Given the description of an element on the screen output the (x, y) to click on. 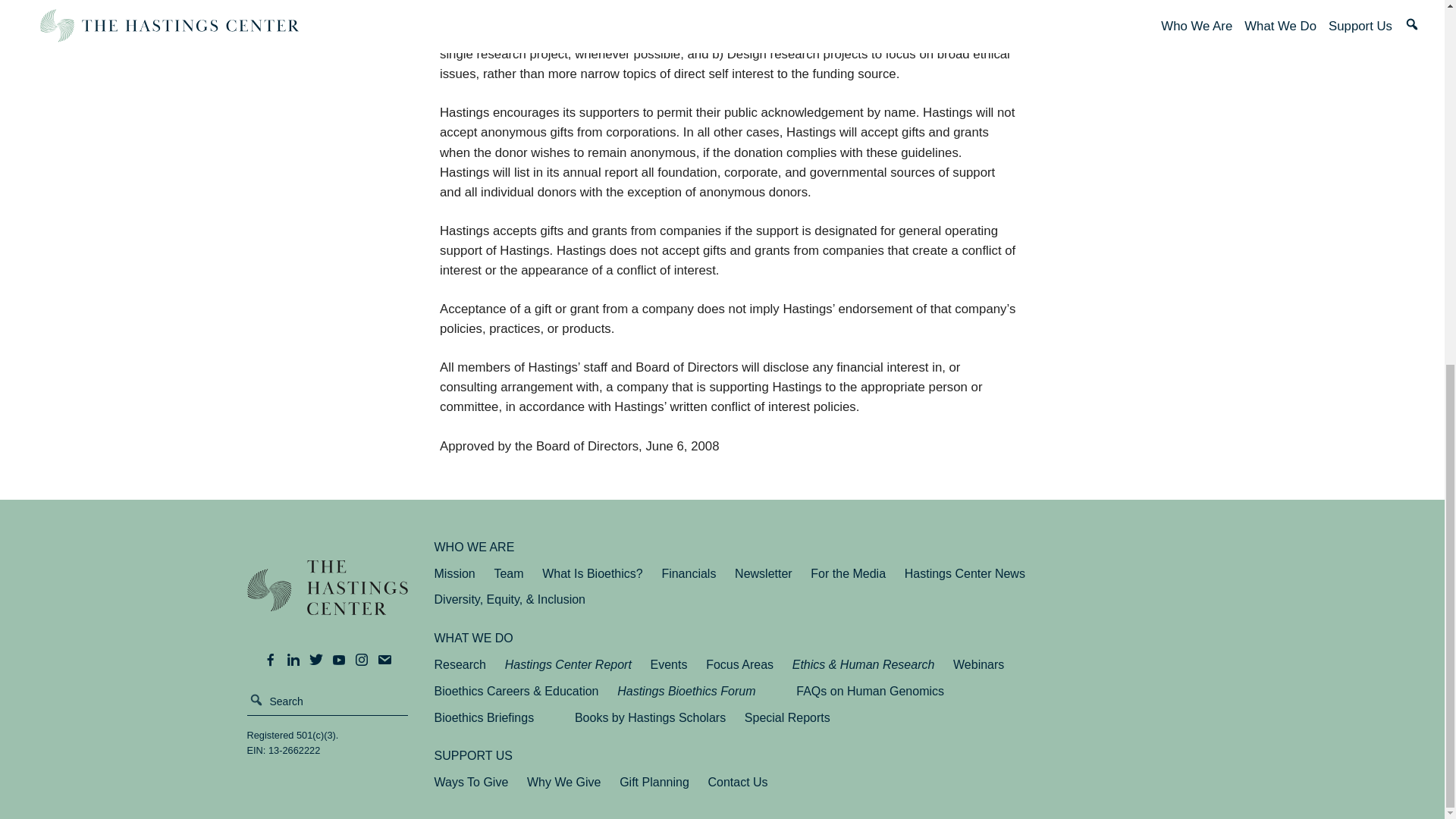
The Hastings Center (327, 598)
The Hastings Center (327, 598)
Search for: (327, 701)
